Given the description of an element on the screen output the (x, y) to click on. 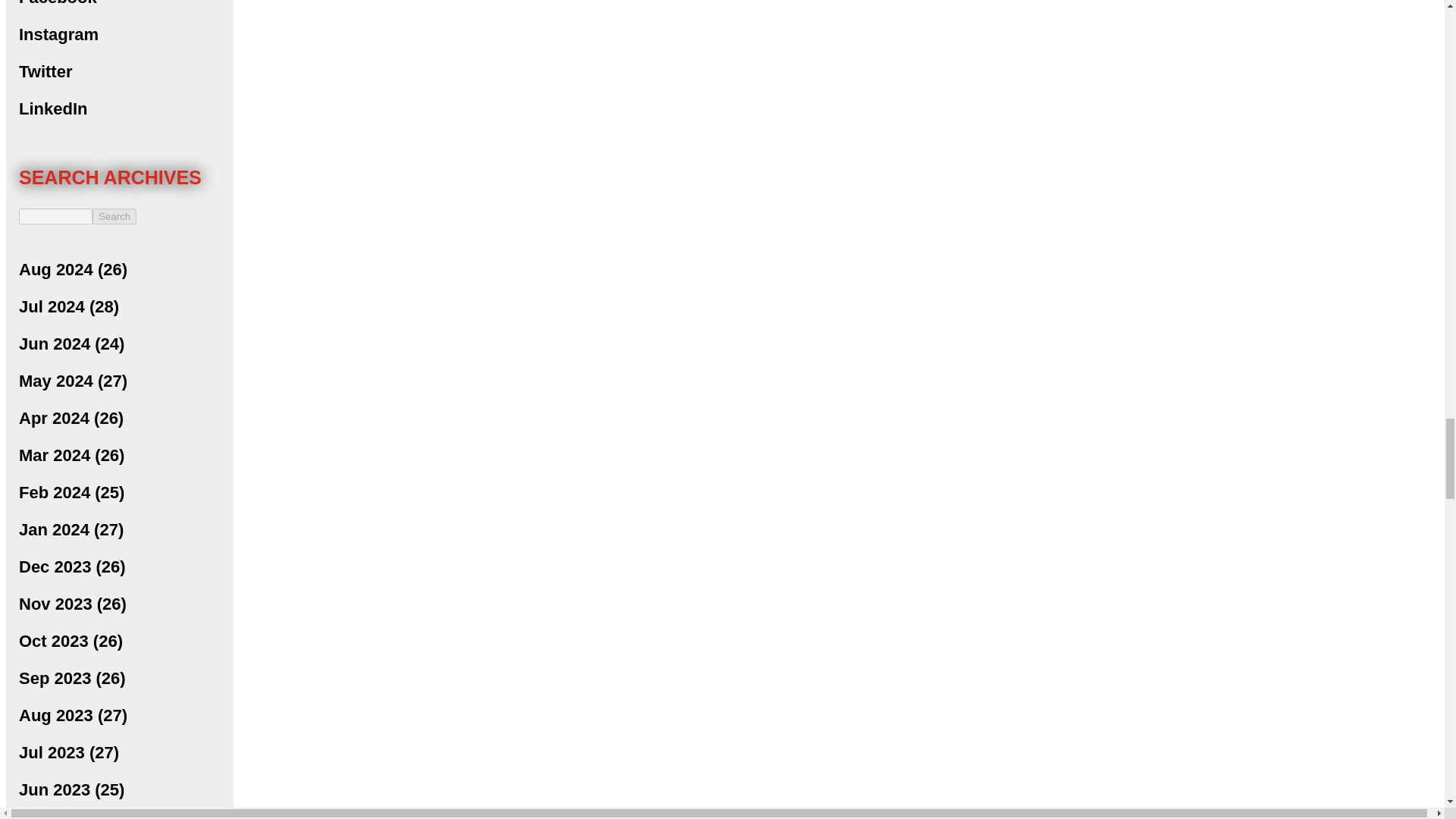
Facebook (57, 3)
Feb 2024 (54, 492)
search (55, 216)
Jan 2024 (53, 529)
Twitter (44, 71)
Instagram (58, 34)
Jun 2024 (54, 343)
Dec 2023 (54, 566)
Aug 2024 (55, 269)
search (114, 216)
